Given the description of an element on the screen output the (x, y) to click on. 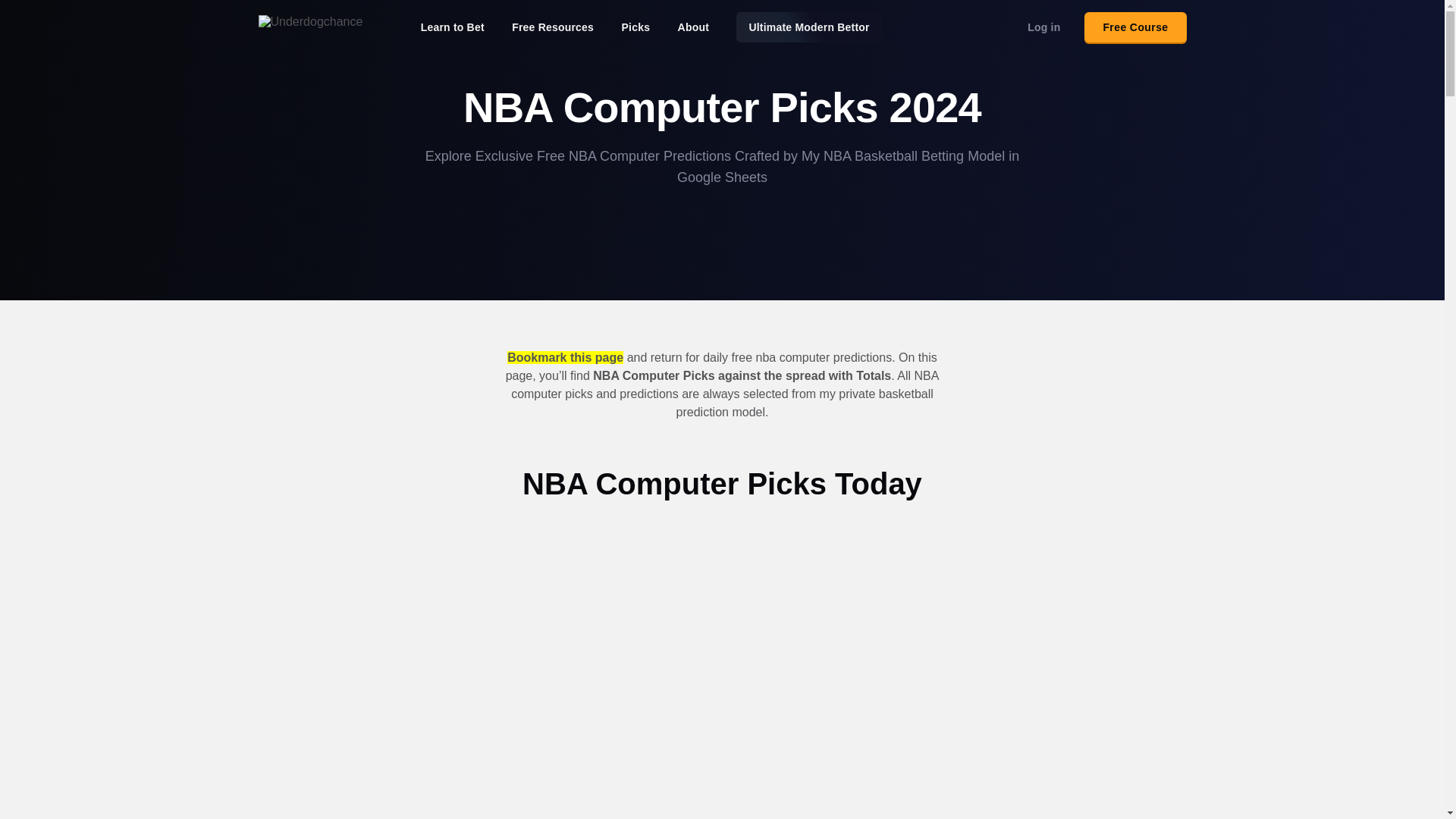
Free Resources (553, 27)
Picks (635, 27)
Free Course (1135, 27)
About (693, 27)
Ultimate Modern Bettor (808, 27)
Log in (1043, 27)
Learn to Bet (452, 27)
